Given the description of an element on the screen output the (x, y) to click on. 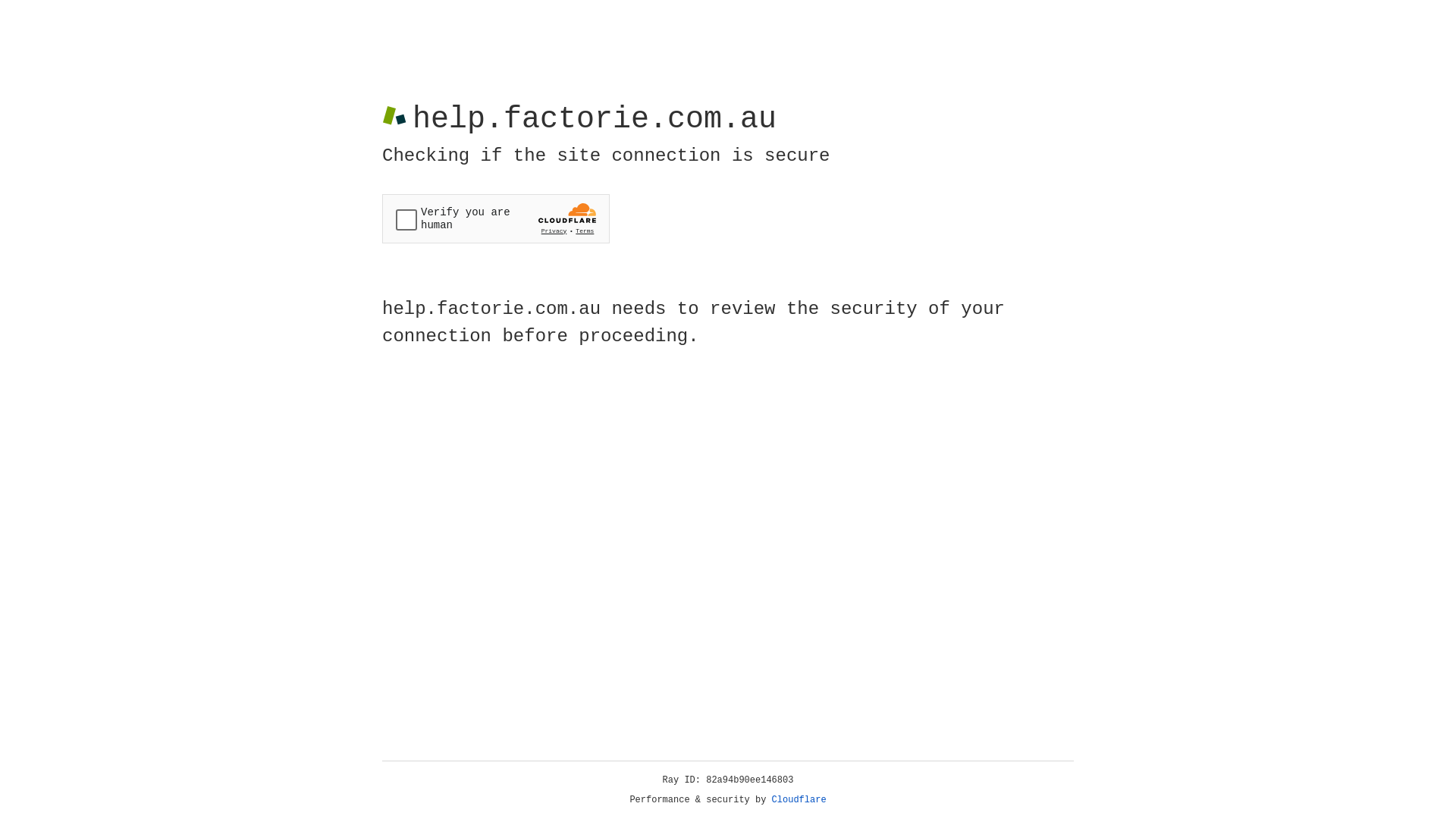
Cloudflare Element type: text (798, 799)
Widget containing a Cloudflare security challenge Element type: hover (495, 218)
